Given the description of an element on the screen output the (x, y) to click on. 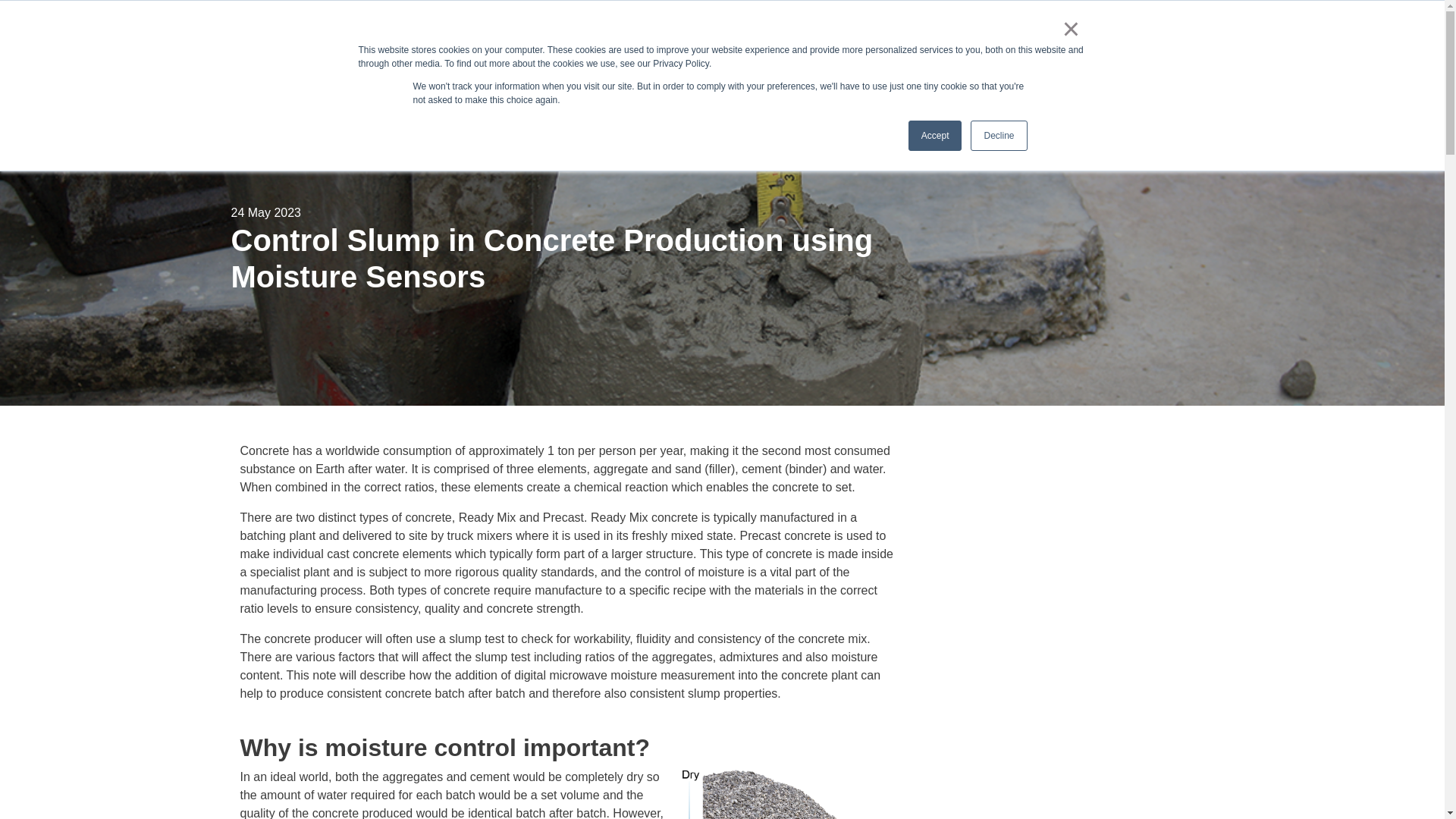
Accept (935, 135)
Moisture Measurement (304, 84)
CONTACT (1070, 31)
DOWNLOADS (1157, 31)
Moisture Measurement (304, 84)
Decline (998, 135)
English (1010, 31)
Industries (470, 84)
Industries (470, 84)
